Given the description of an element on the screen output the (x, y) to click on. 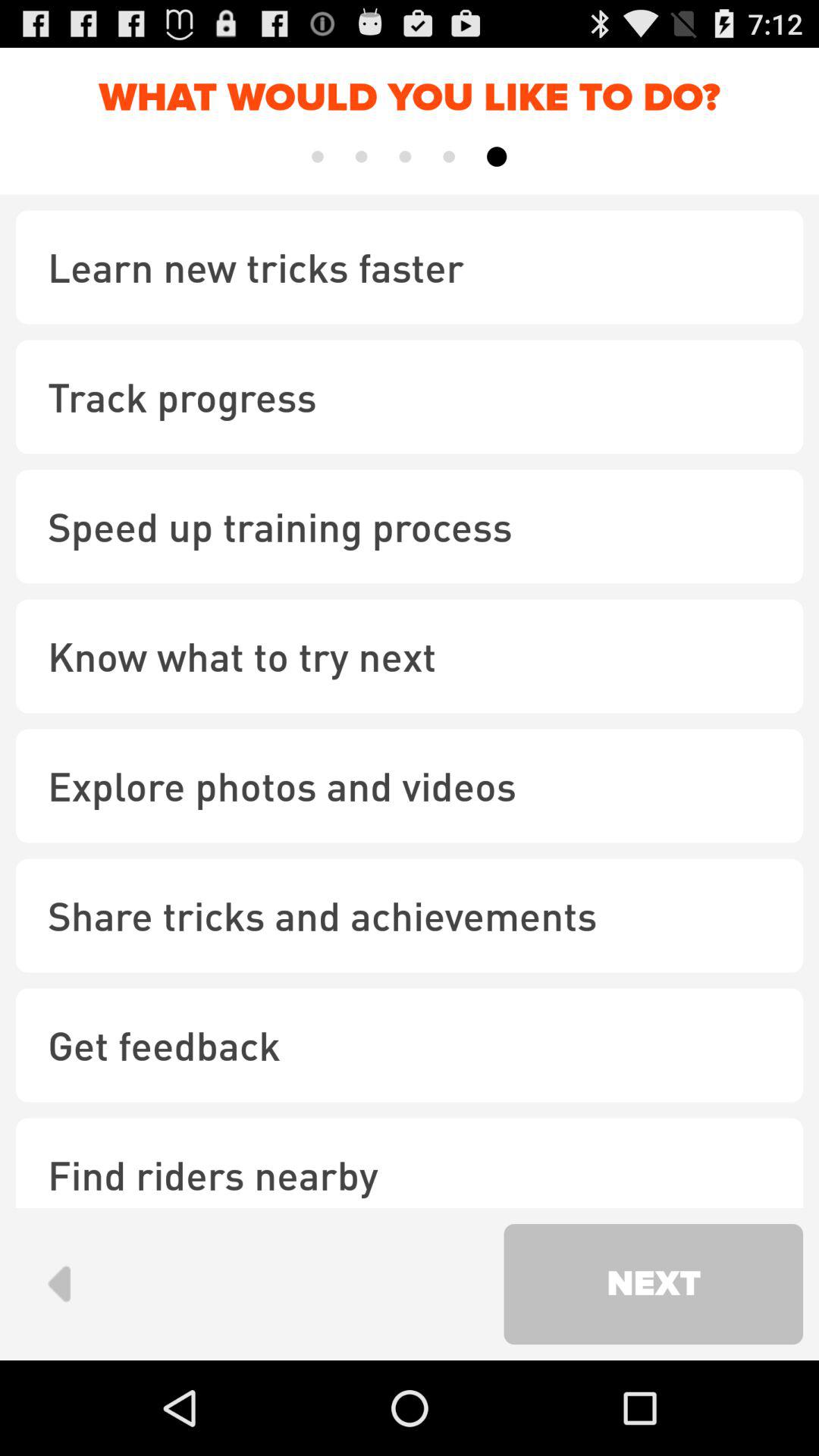
turn off icon above track progress (409, 267)
